Given the description of an element on the screen output the (x, y) to click on. 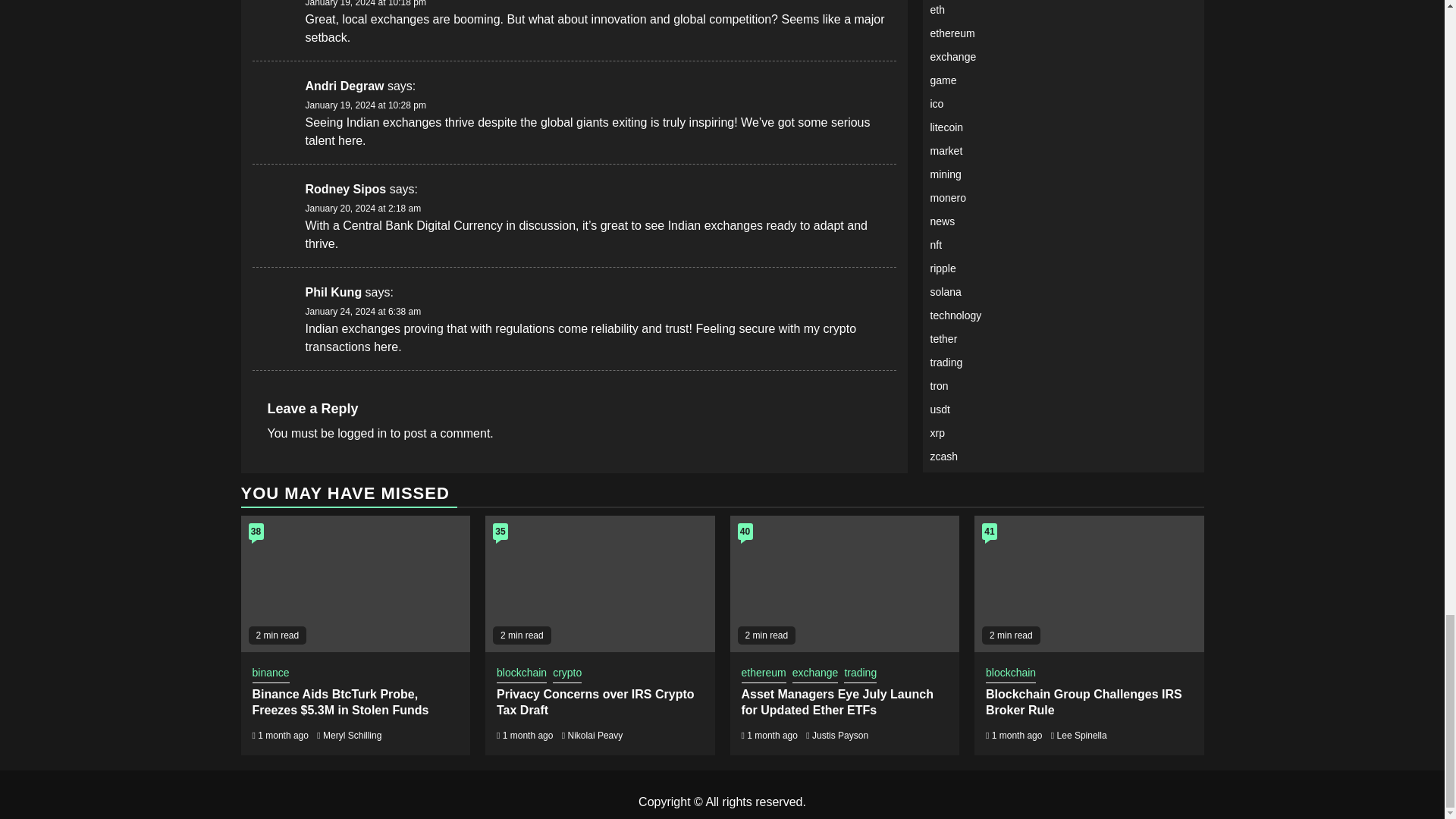
January 20, 2024 at 2:18 am (362, 208)
January 19, 2024 at 10:28 pm (364, 104)
January 19, 2024 at 10:18 pm (364, 3)
